Given the description of an element on the screen output the (x, y) to click on. 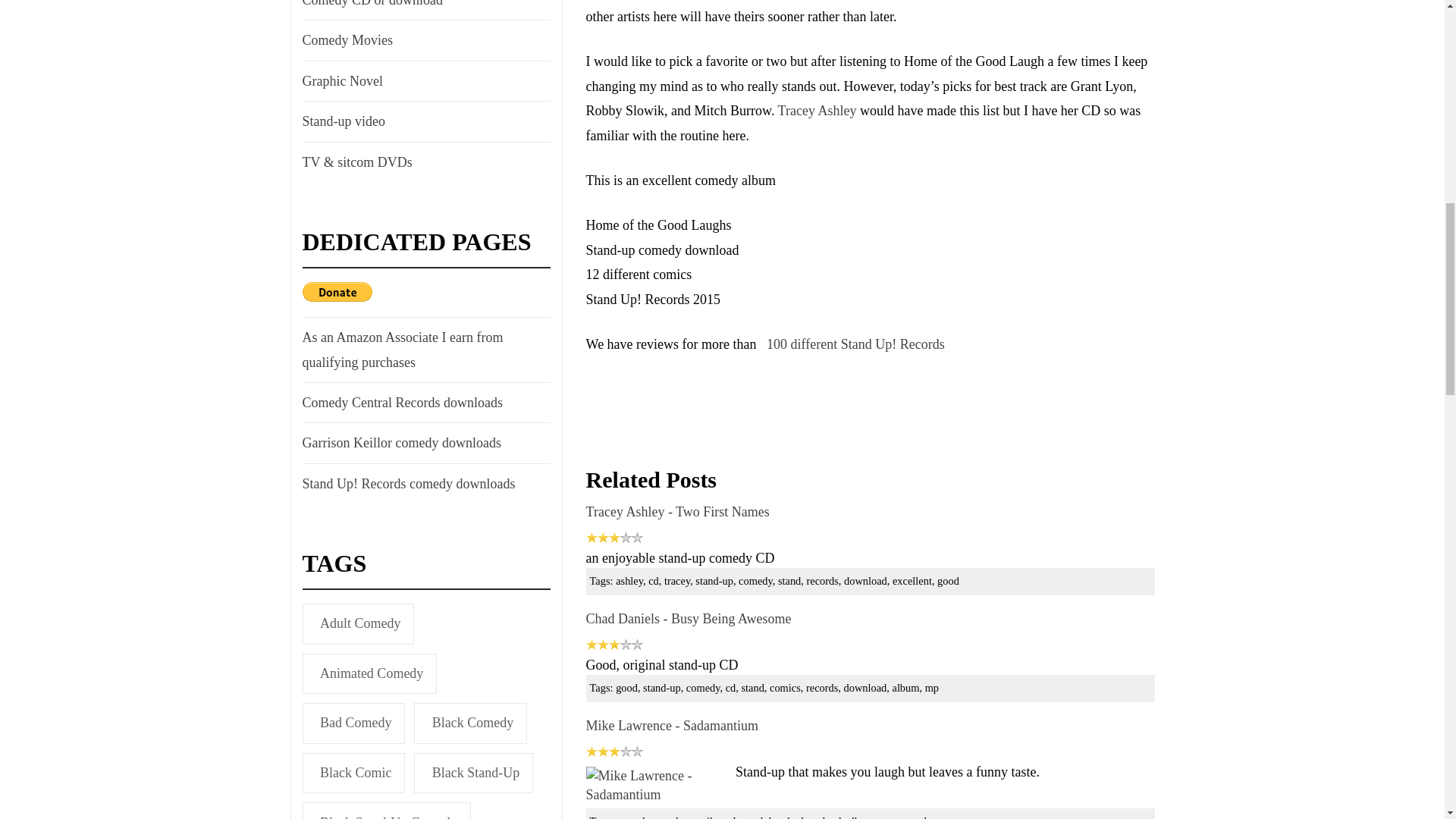
Tracey Ashley (817, 110)
Comedy CD or download (370, 6)
Mike Lawrence - Sadamantium (657, 785)
Mike Lawrence - Sadamantium (672, 725)
PayPal - The safer, easier way to pay online! (336, 291)
Chad Daniels - Busy Being Awesome (689, 618)
Comedy Movies (345, 39)
Mike Lawrence - Sadamantium (672, 725)
Tracey Ashley - Two First Names (678, 511)
Chad Daniels - Busy Being Awesome (689, 618)
